Given the description of an element on the screen output the (x, y) to click on. 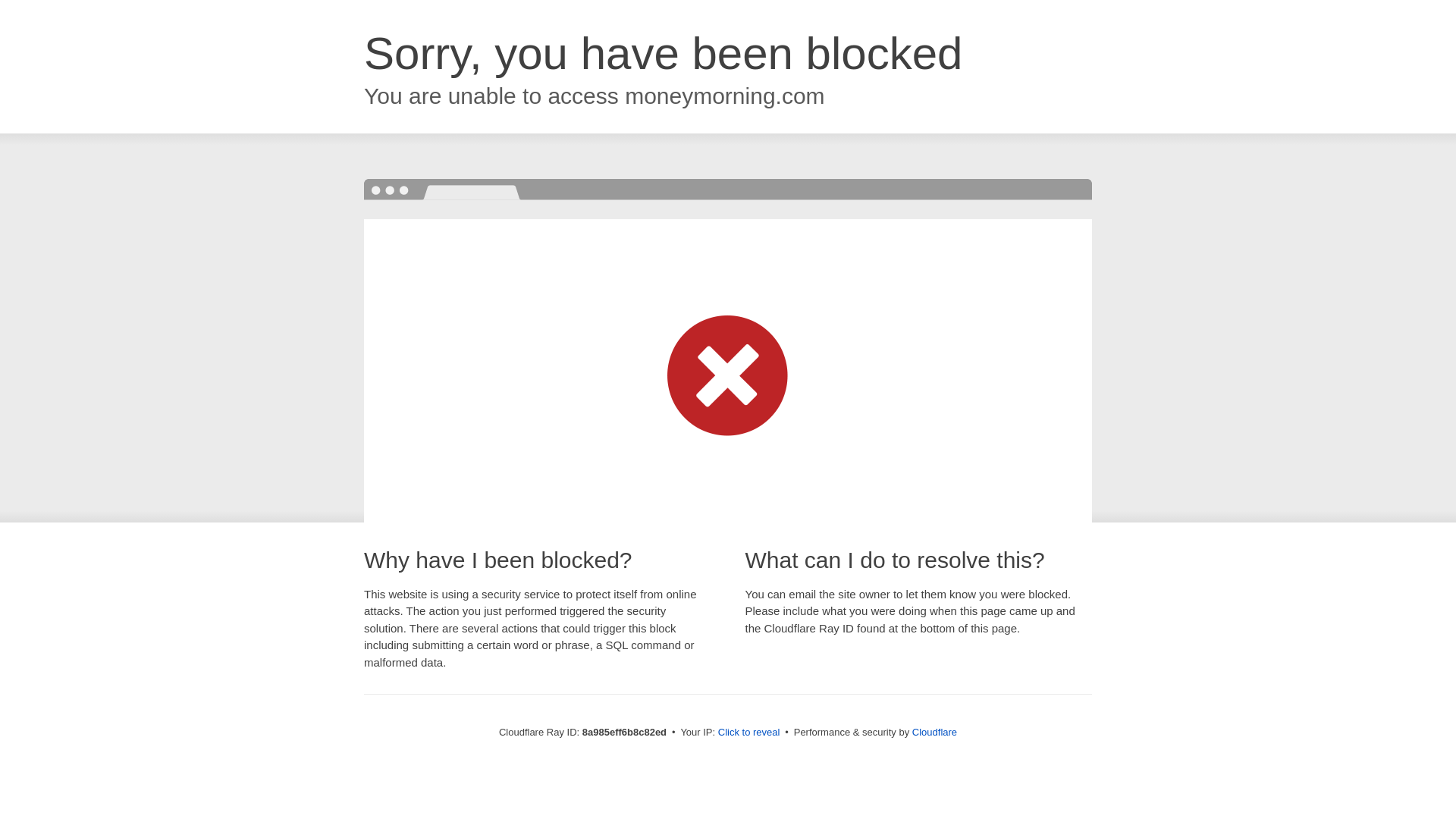
Click to reveal (748, 732)
Cloudflare (934, 731)
